Given the description of an element on the screen output the (x, y) to click on. 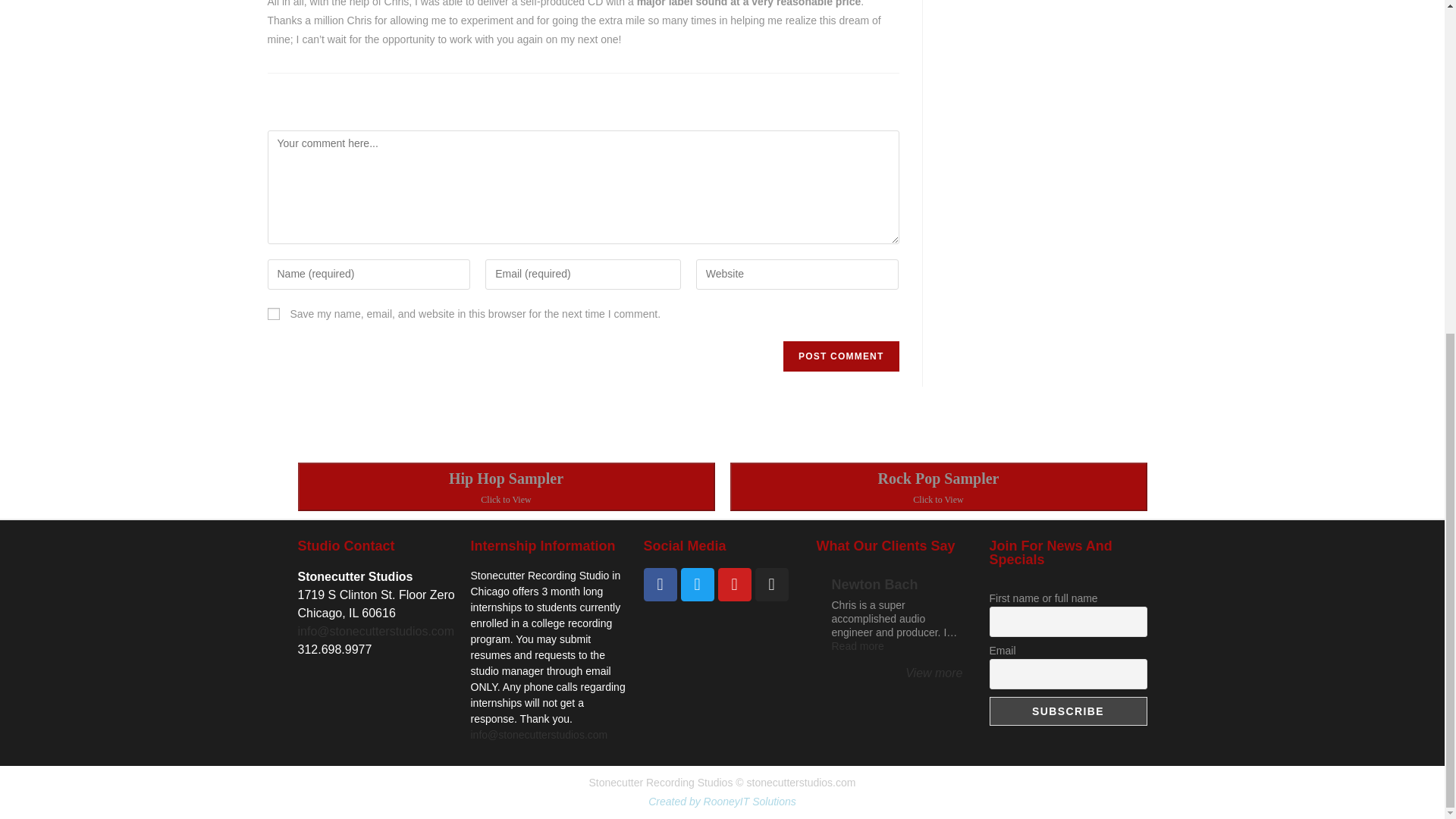
yes (272, 313)
Post Comment (840, 356)
Subscribe (1067, 710)
